Given the description of an element on the screen output the (x, y) to click on. 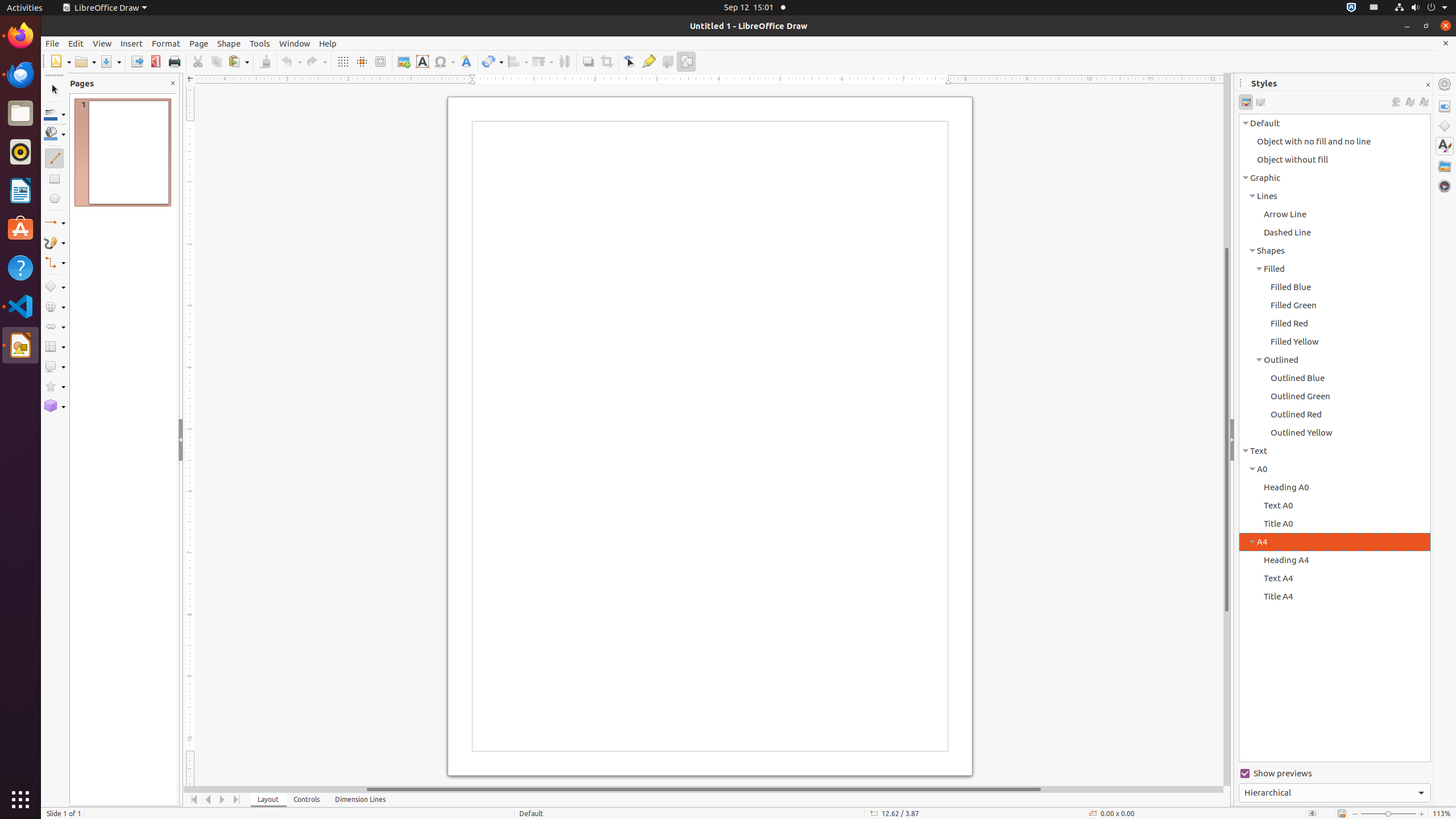
Files Element type: push-button (20, 113)
Line Color Element type: push-button (54, 113)
Glue Points Element type: push-button (648, 61)
Grid Element type: toggle-button (342, 61)
New Style from Selection Element type: push-button (1409, 101)
